Given the description of an element on the screen output the (x, y) to click on. 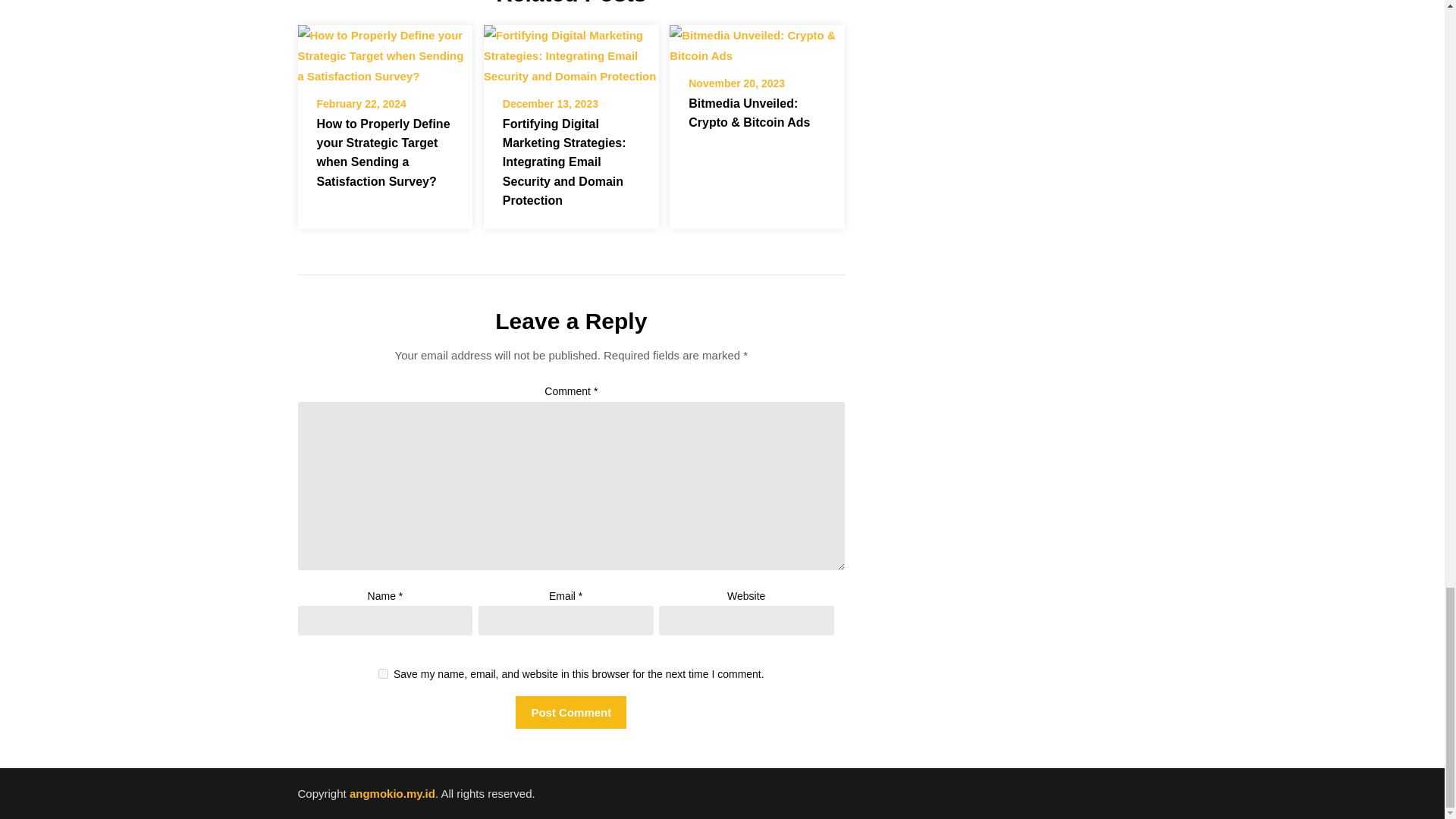
Post Comment (570, 712)
Post Comment (570, 712)
yes (383, 673)
